Given the description of an element on the screen output the (x, y) to click on. 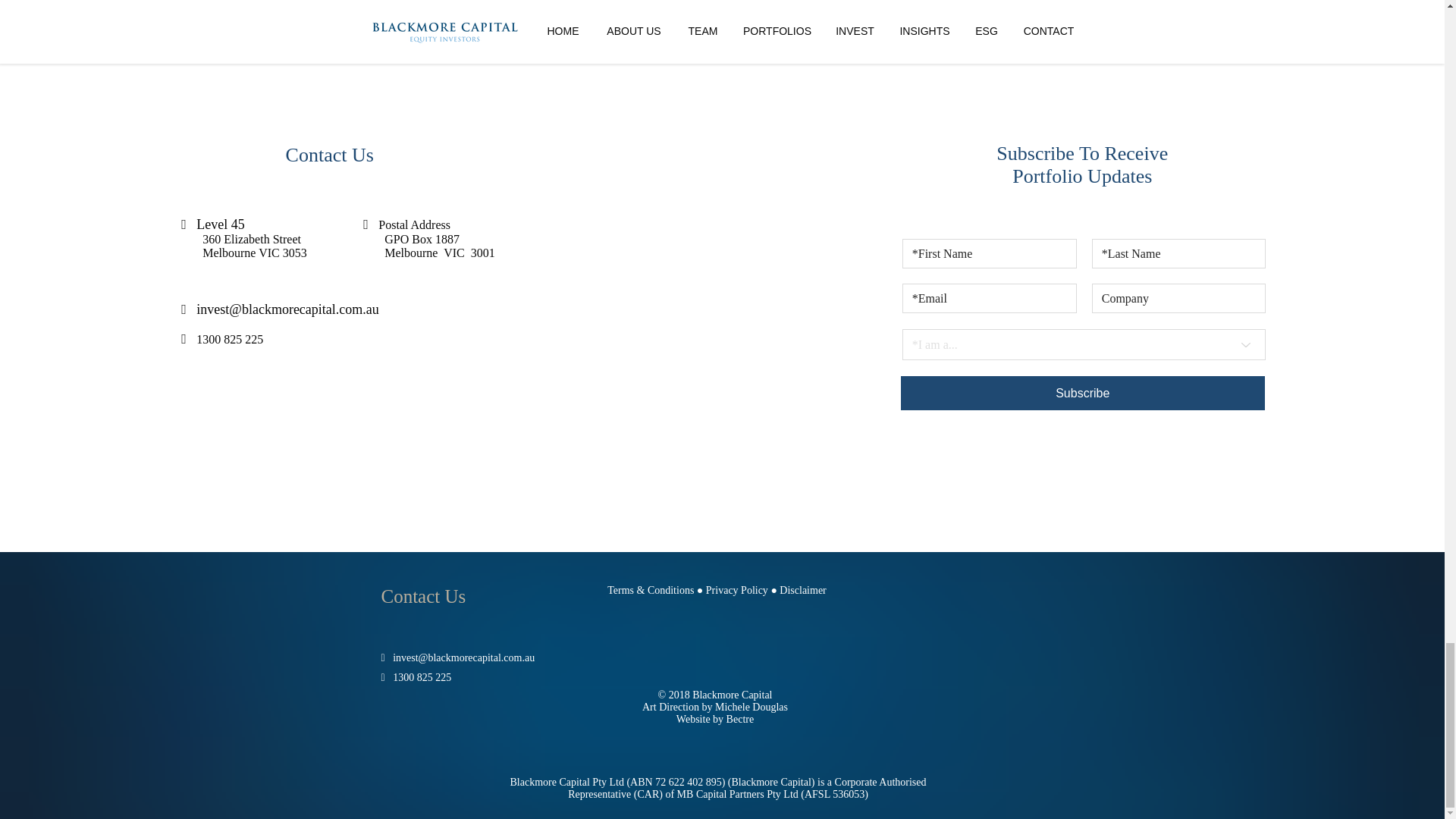
Bectre (740, 718)
Investor Update - May 2024 (967, 5)
Subscribe (1083, 392)
Investor Update - June 2024 - End of Financial Year (476, 13)
Privacy Policy (737, 590)
Disclaimer (801, 590)
